Given the description of an element on the screen output the (x, y) to click on. 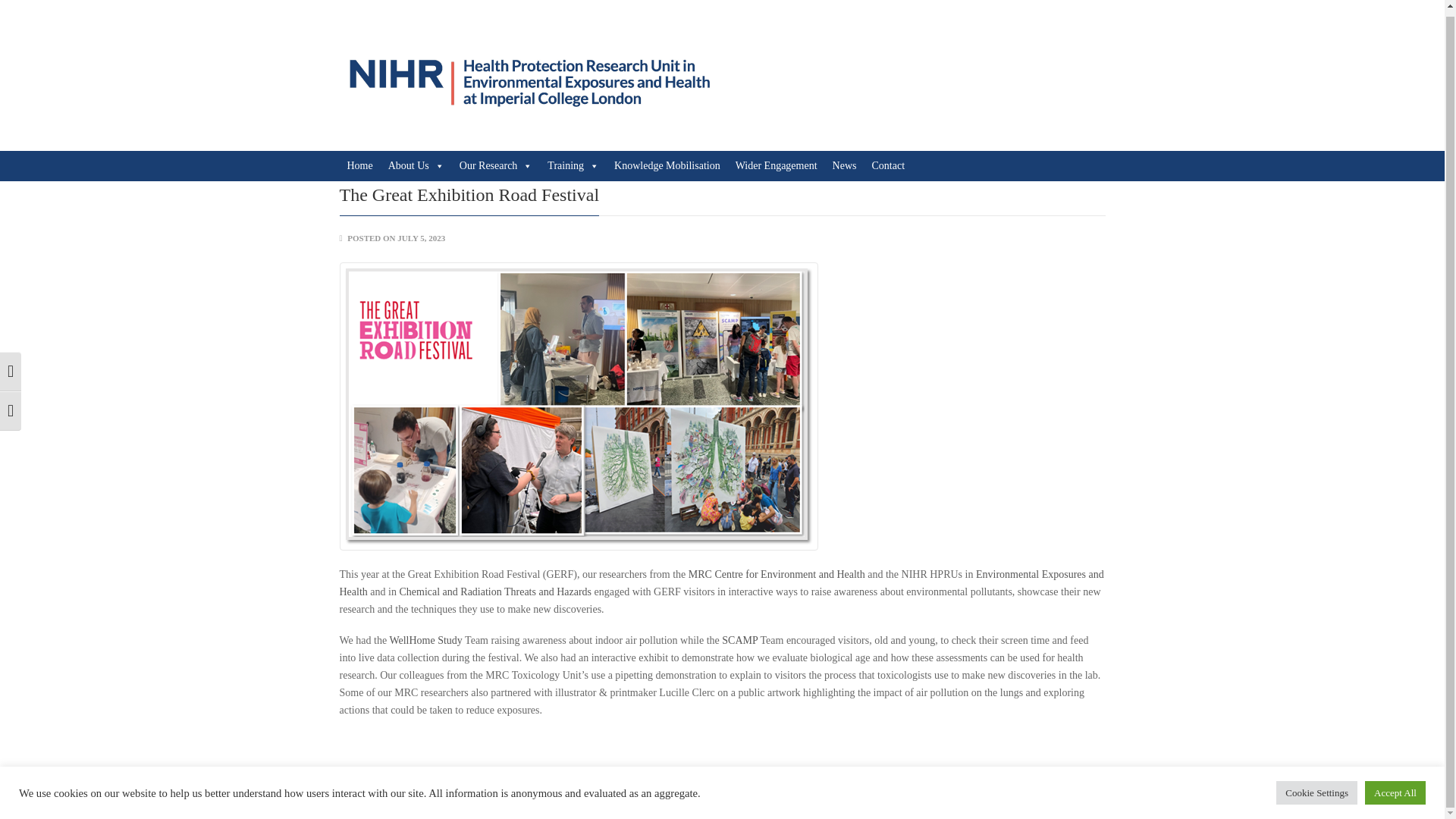
MRC Centre for Environment and Health (776, 573)
About Us (415, 165)
PRIVACY NOTICE (987, 794)
News (844, 165)
Knowledge Mobilisation (667, 165)
ACCESSIBILITY (1071, 794)
Cookie Settings (1316, 787)
WellHome Study (424, 640)
Wider Engagement (776, 165)
Training (573, 165)
